Given the description of an element on the screen output the (x, y) to click on. 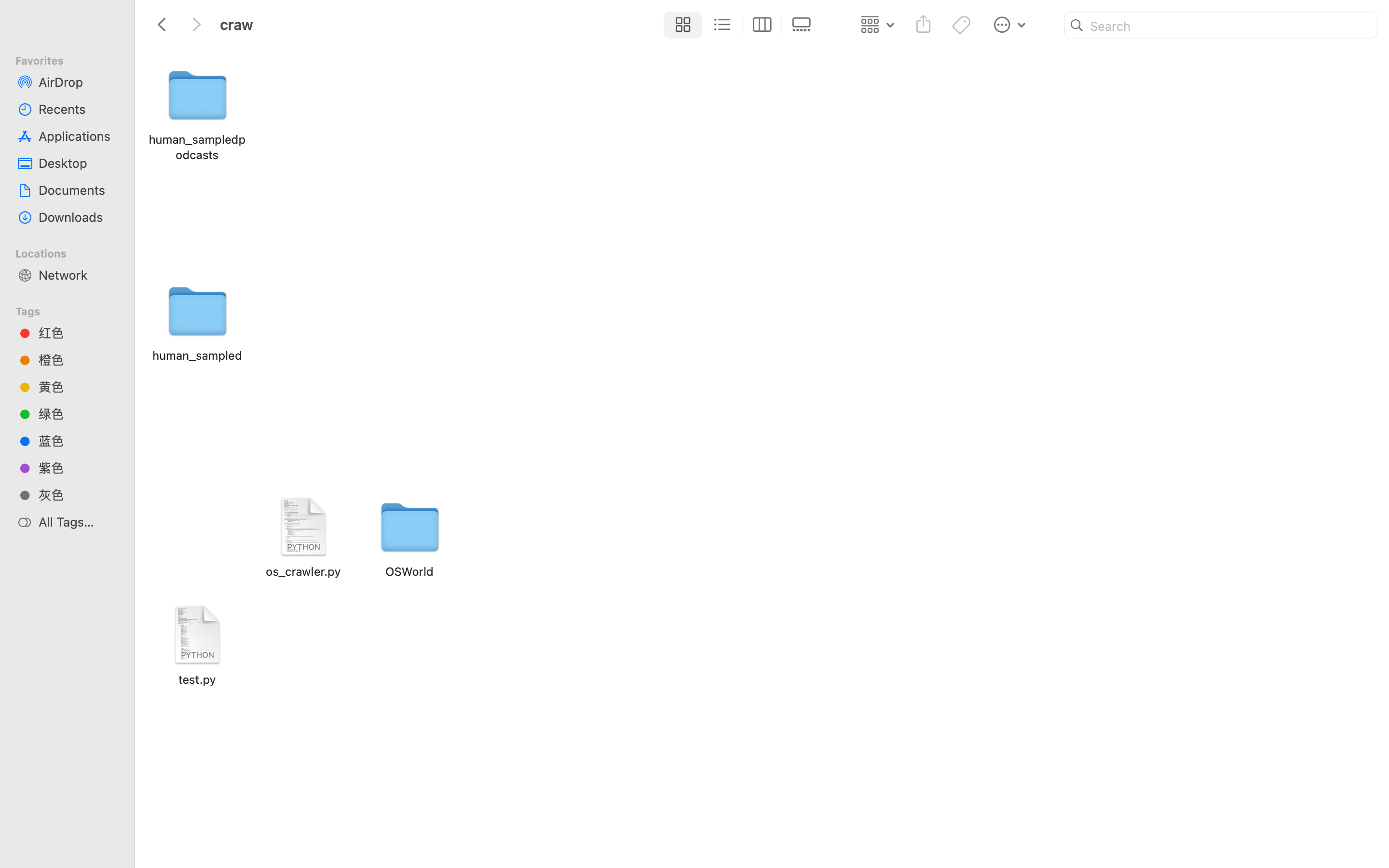
All Tags… Element type: AXStaticText (77, 521)
<AXUIElement 0x14815be50> {pid=510} Element type: AXRadioGroup (741, 24)
Recents Element type: AXStaticText (77, 108)
Tags… Element type: AXStaticText (20, 860)
0 Element type: AXRadioButton (804, 24)
